Given the description of an element on the screen output the (x, y) to click on. 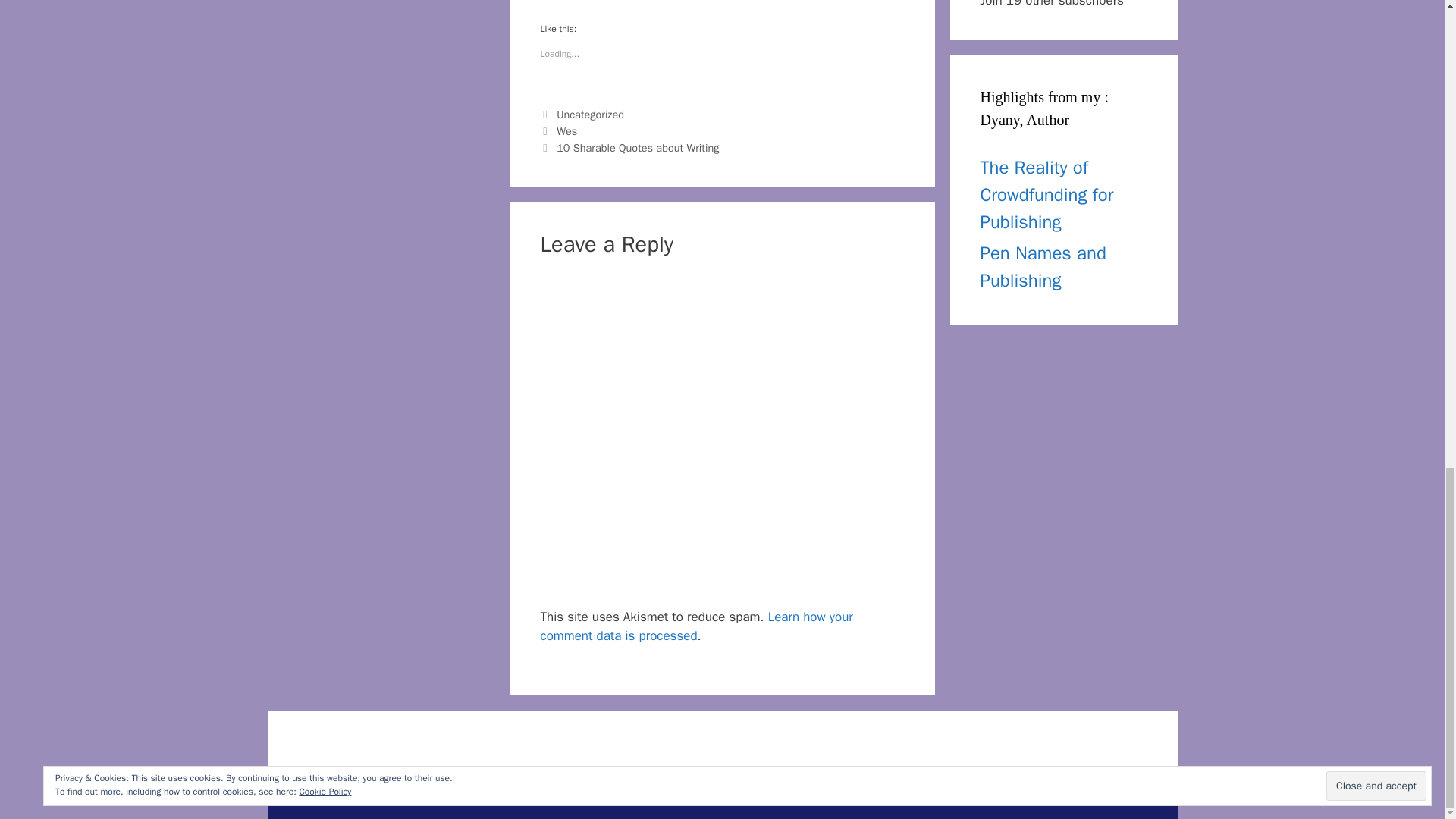
The Reality of Crowdfunding for Publishing (1046, 194)
Uncategorized (590, 114)
Learn how your comment data is processed (695, 626)
10 Sharable Quotes about Writing (637, 147)
GeneratePress (796, 794)
Pen Names and Publishing (1042, 266)
Scroll back to top (1406, 439)
Comment Form (722, 438)
Wes (566, 131)
